Given the description of an element on the screen output the (x, y) to click on. 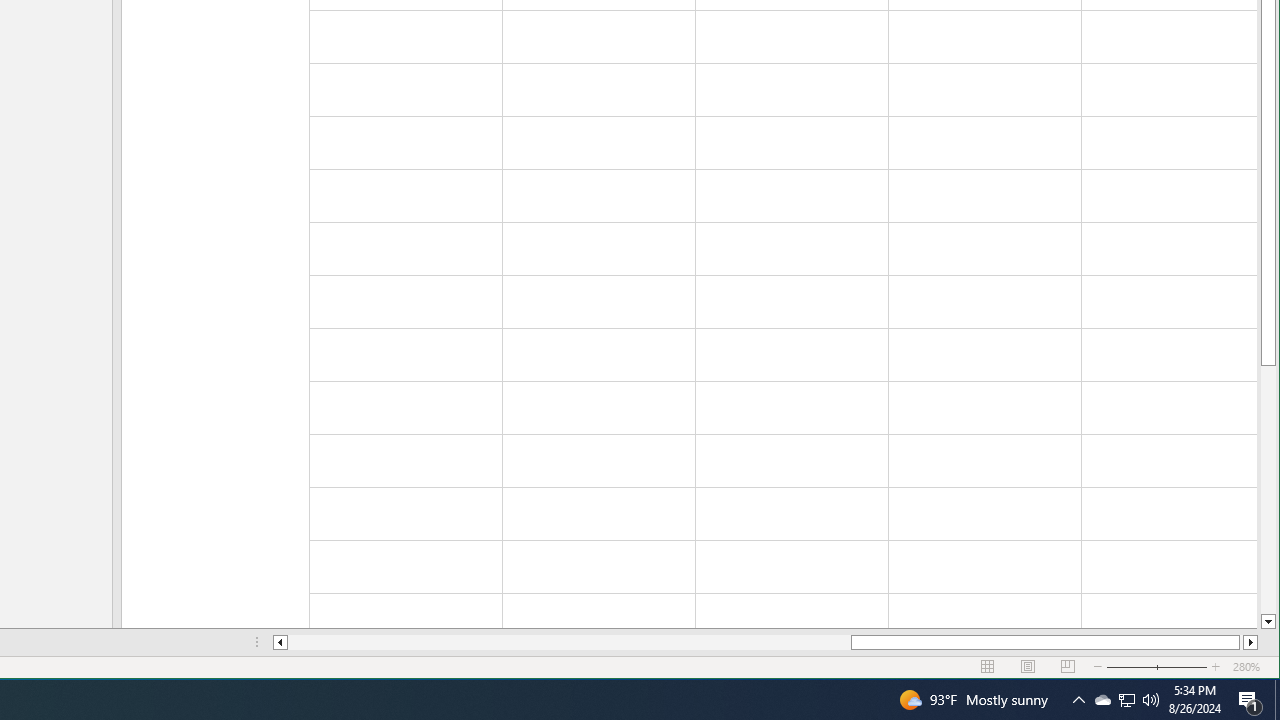
Page Layout (1028, 667)
User Promoted Notification Area (1126, 699)
Normal (987, 667)
Page left (569, 642)
Notification Chevron (1078, 699)
Action Center, 1 new notification (1250, 699)
